Given the description of an element on the screen output the (x, y) to click on. 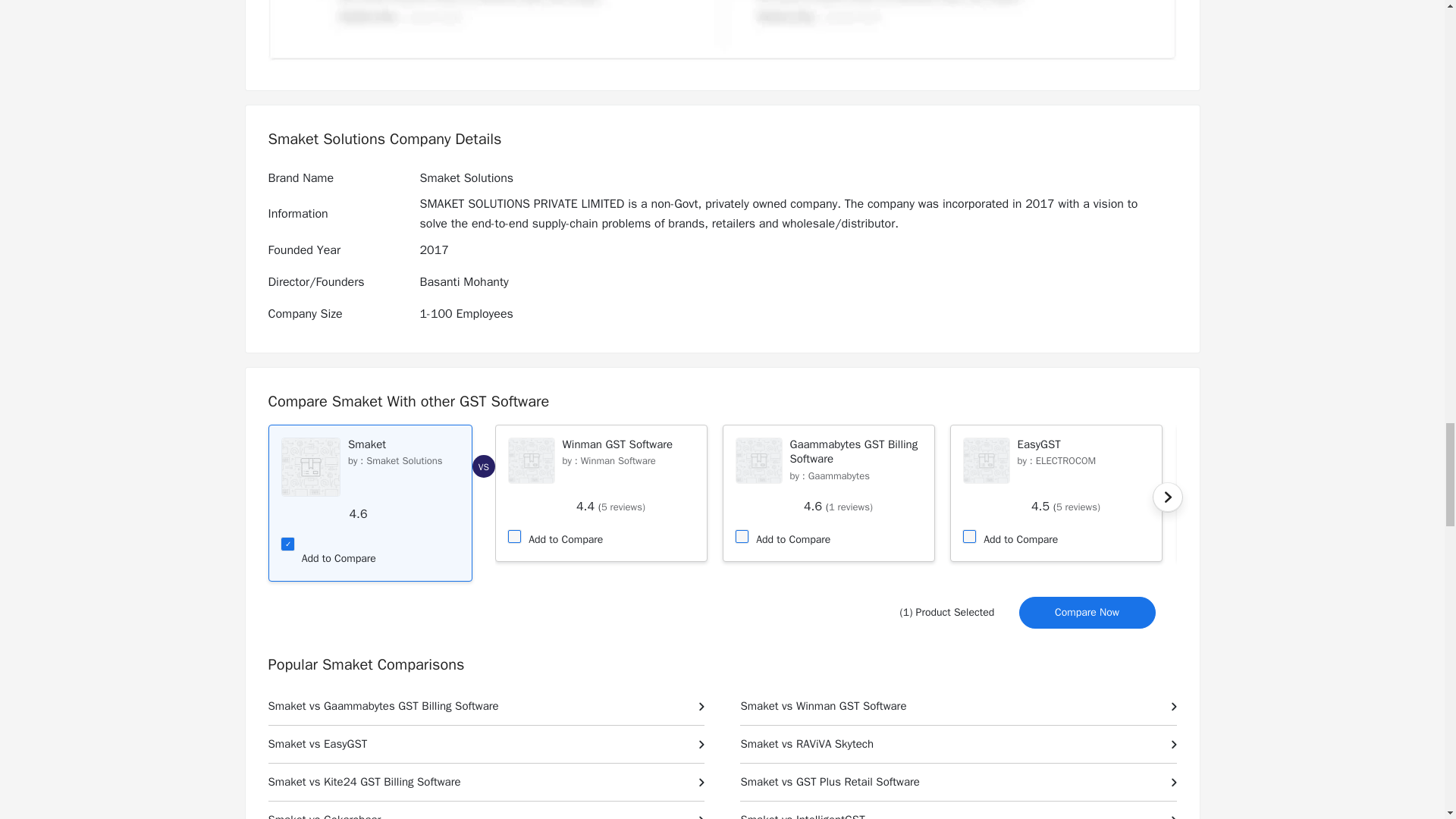
on (285, 542)
on (513, 534)
on (740, 534)
on (967, 534)
